Given the description of an element on the screen output the (x, y) to click on. 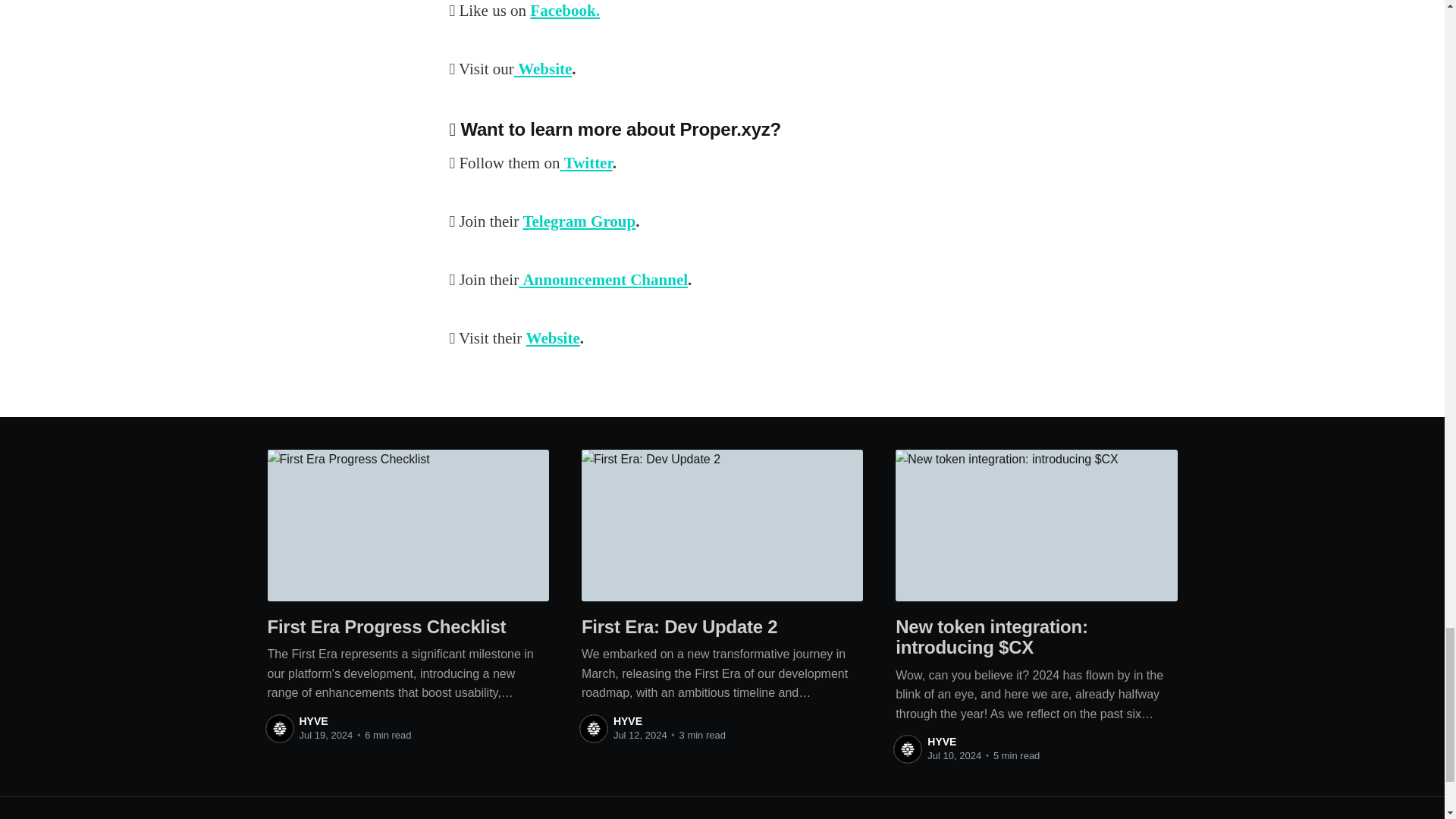
Twitter (585, 162)
Announcement Channel (602, 280)
HYVE (312, 720)
Website (552, 338)
HYVE (627, 720)
HYVE (941, 741)
Website (542, 68)
Telegram Group (578, 221)
Facebook. (564, 10)
